Given the description of an element on the screen output the (x, y) to click on. 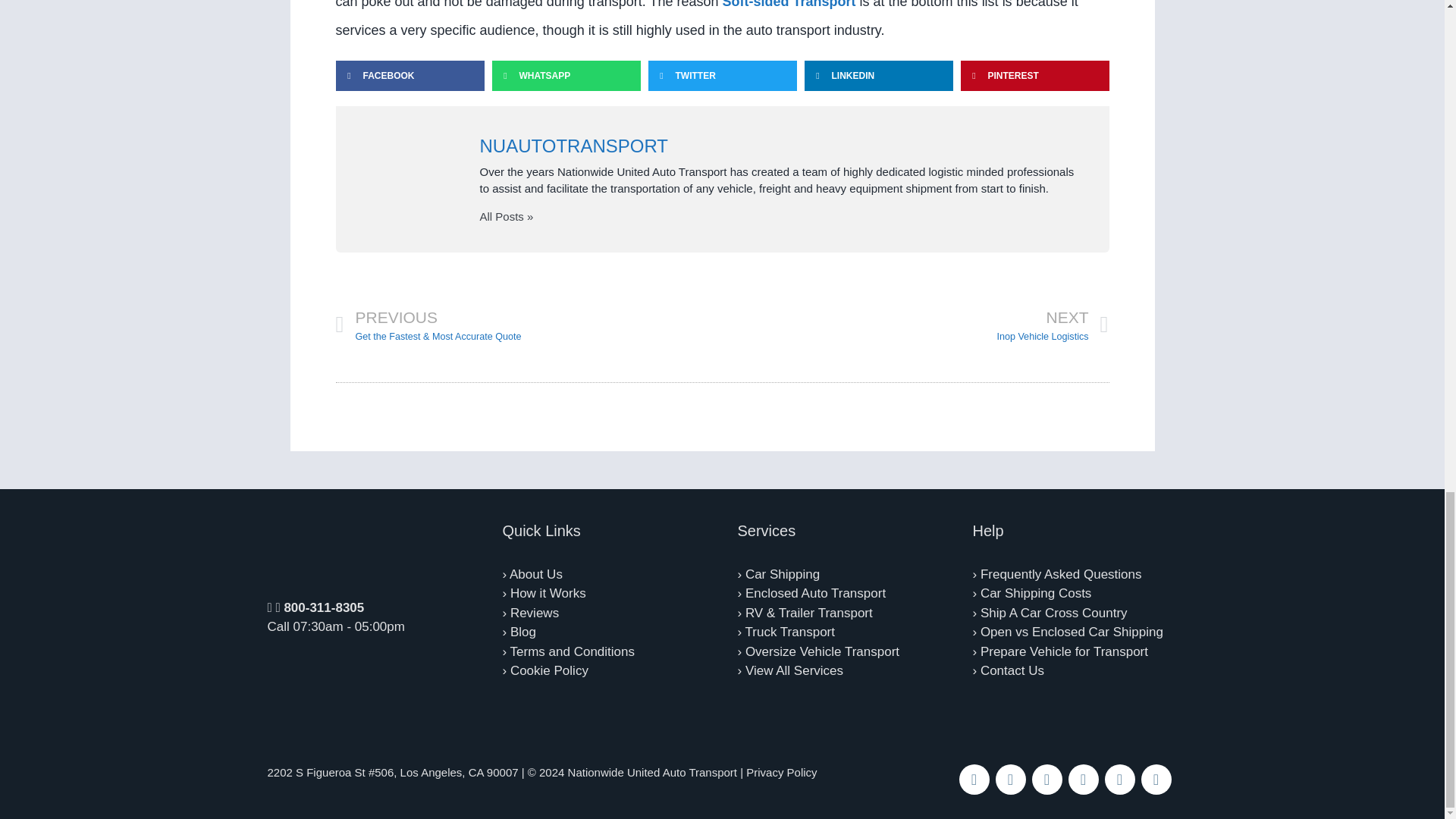
Flickr (1118, 779)
Twitter (1009, 779)
Pinterest (1082, 779)
Instagram (1045, 779)
Facebook (973, 779)
